Given the description of an element on the screen output the (x, y) to click on. 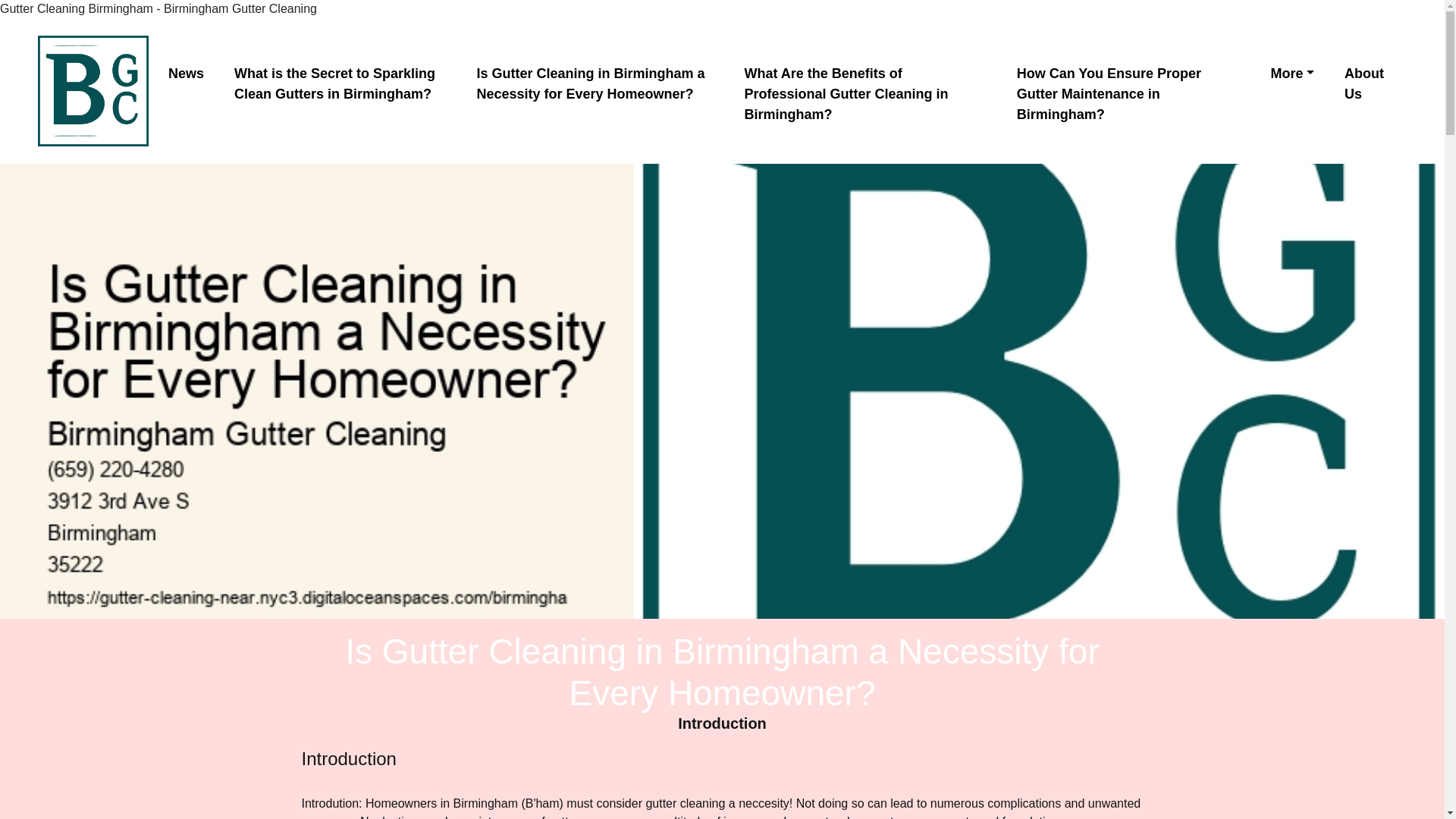
What is the Secret to Sparkling Clean Gutters in Birmingham? (339, 83)
News (185, 73)
About Us (1364, 83)
How Can You Ensure Proper Gutter Maintenance in Birmingham? (1128, 94)
More (1291, 73)
